Given the description of an element on the screen output the (x, y) to click on. 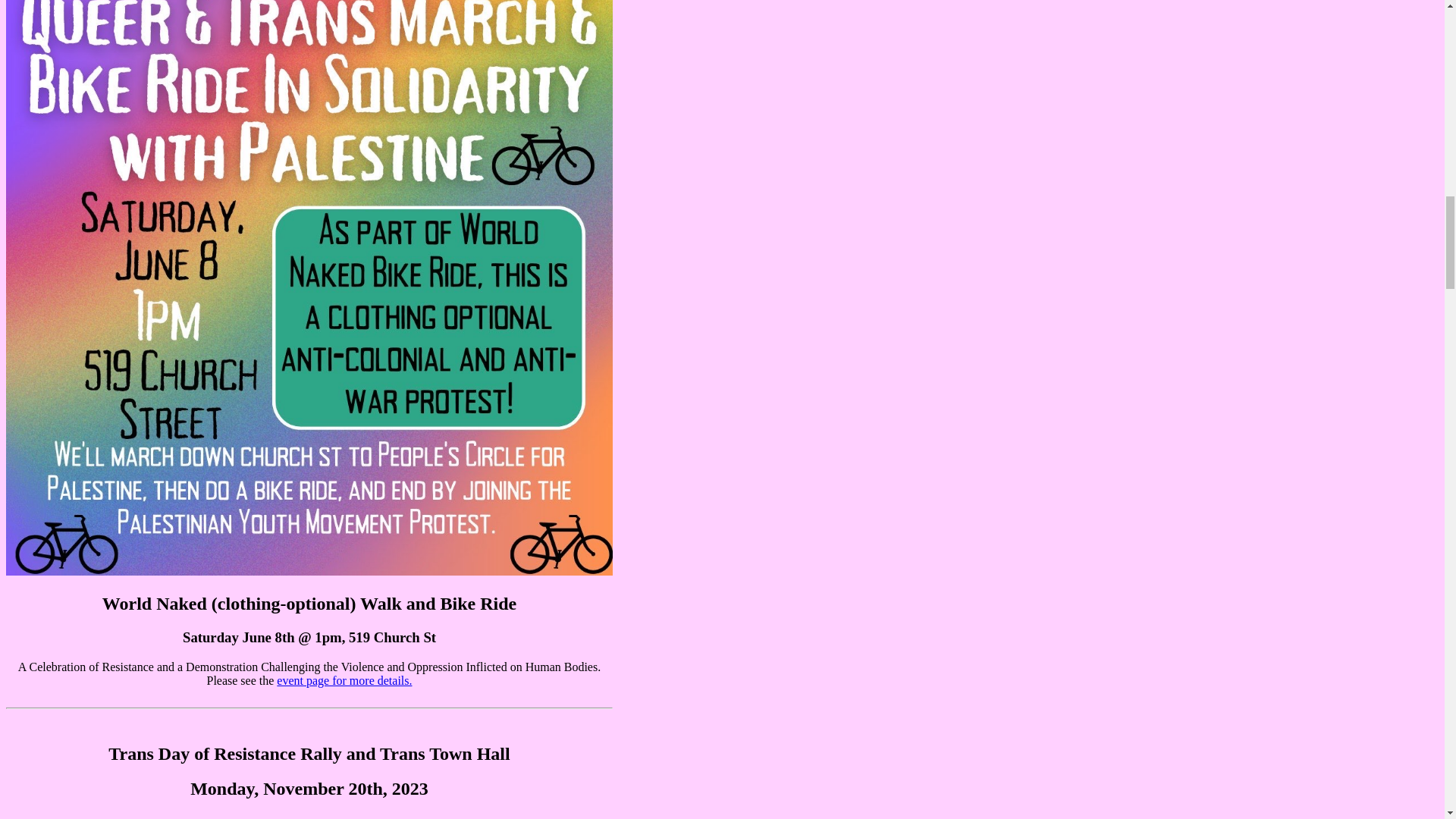
event page for more details. (344, 680)
